Given the description of an element on the screen output the (x, y) to click on. 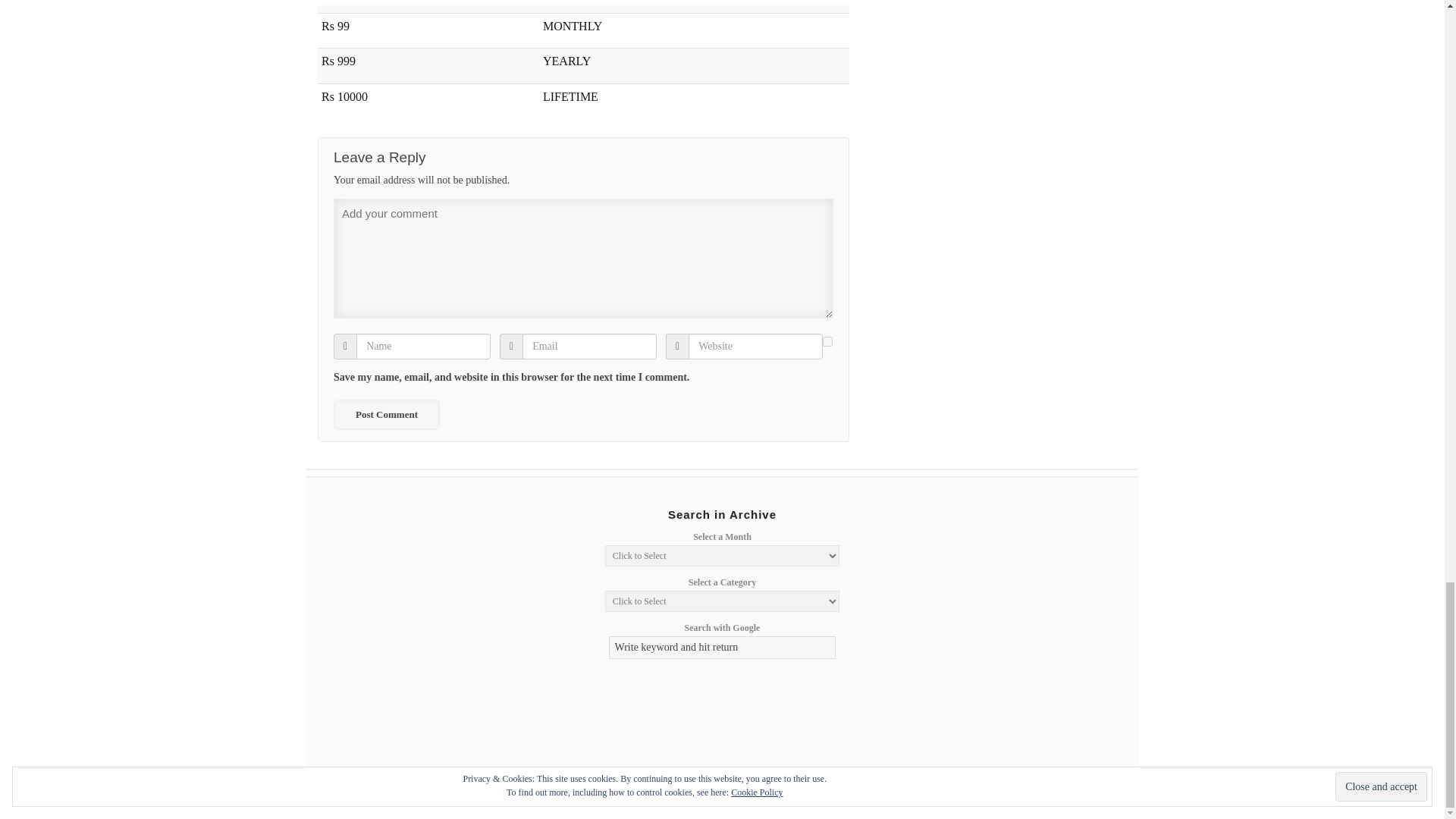
Kashmir Reader (381, 790)
yes (827, 341)
Semantic Personal Publishing Platform (1017, 790)
Post Comment (386, 414)
Write keyword and hit return (721, 647)
